Given the description of an element on the screen output the (x, y) to click on. 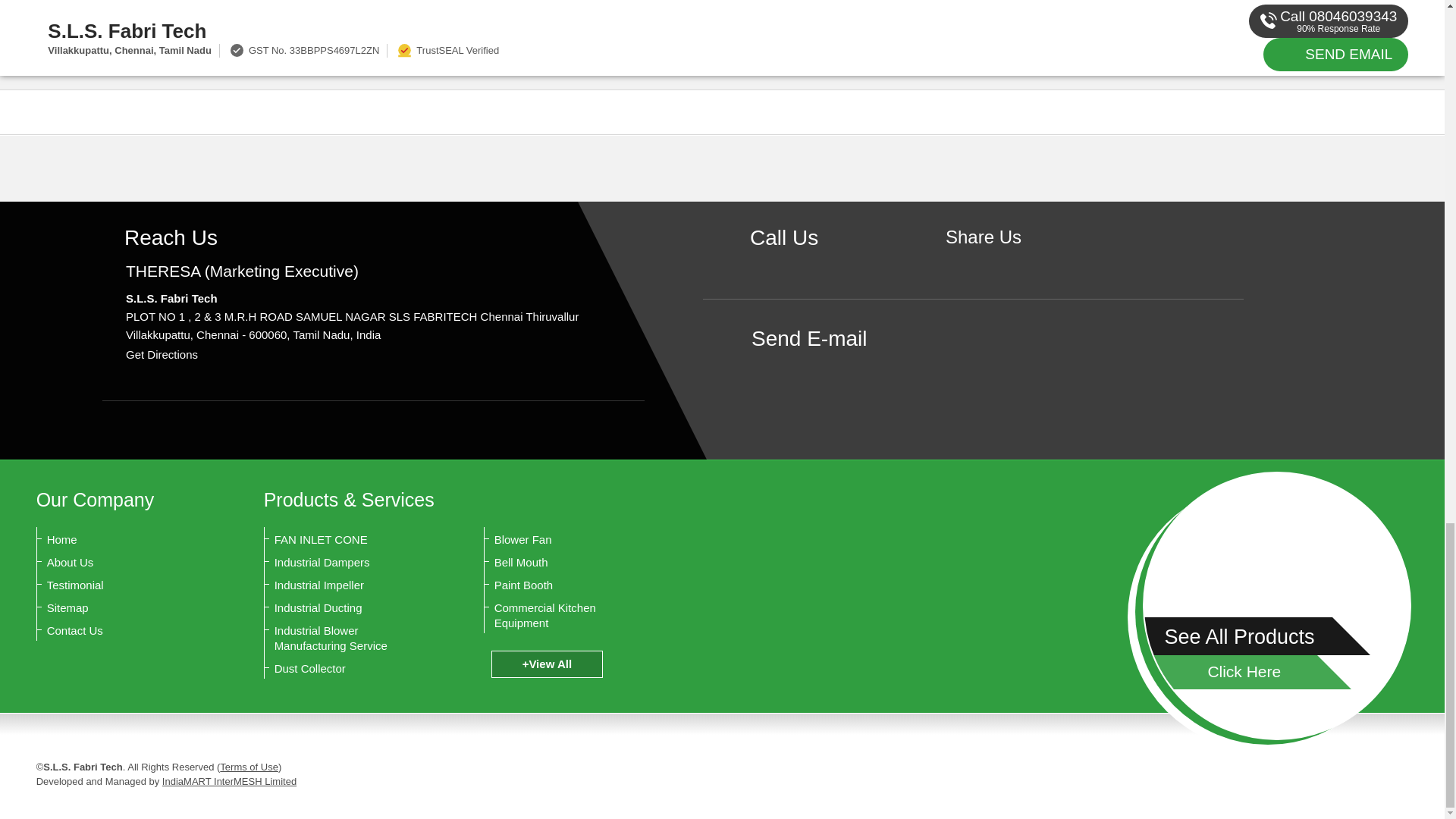
Facebook (983, 262)
Get Directions (161, 354)
Twitter (1006, 262)
